Given the description of an element on the screen output the (x, y) to click on. 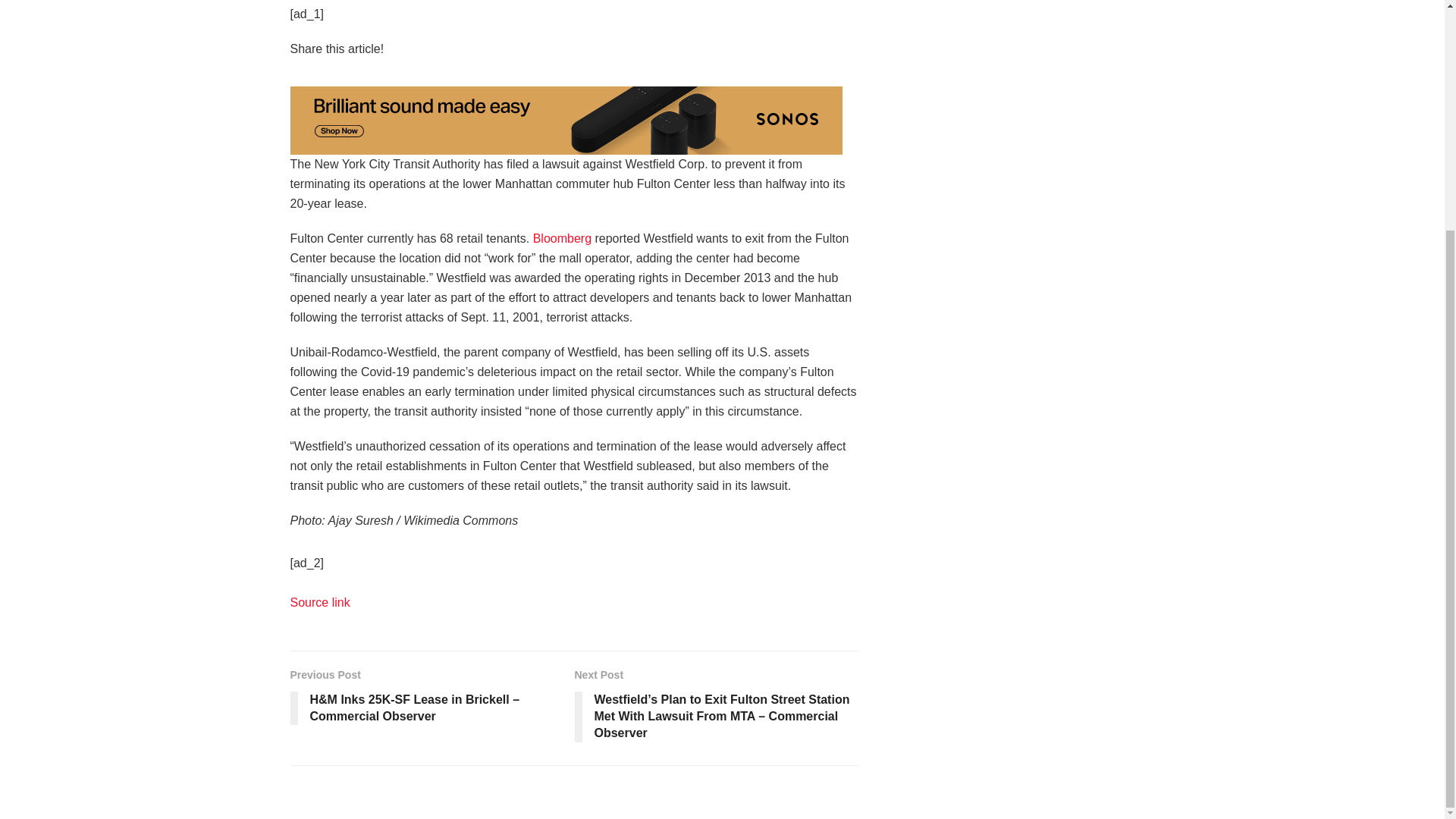
Bloomberg (561, 237)
Source link (319, 602)
